Given the description of an element on the screen output the (x, y) to click on. 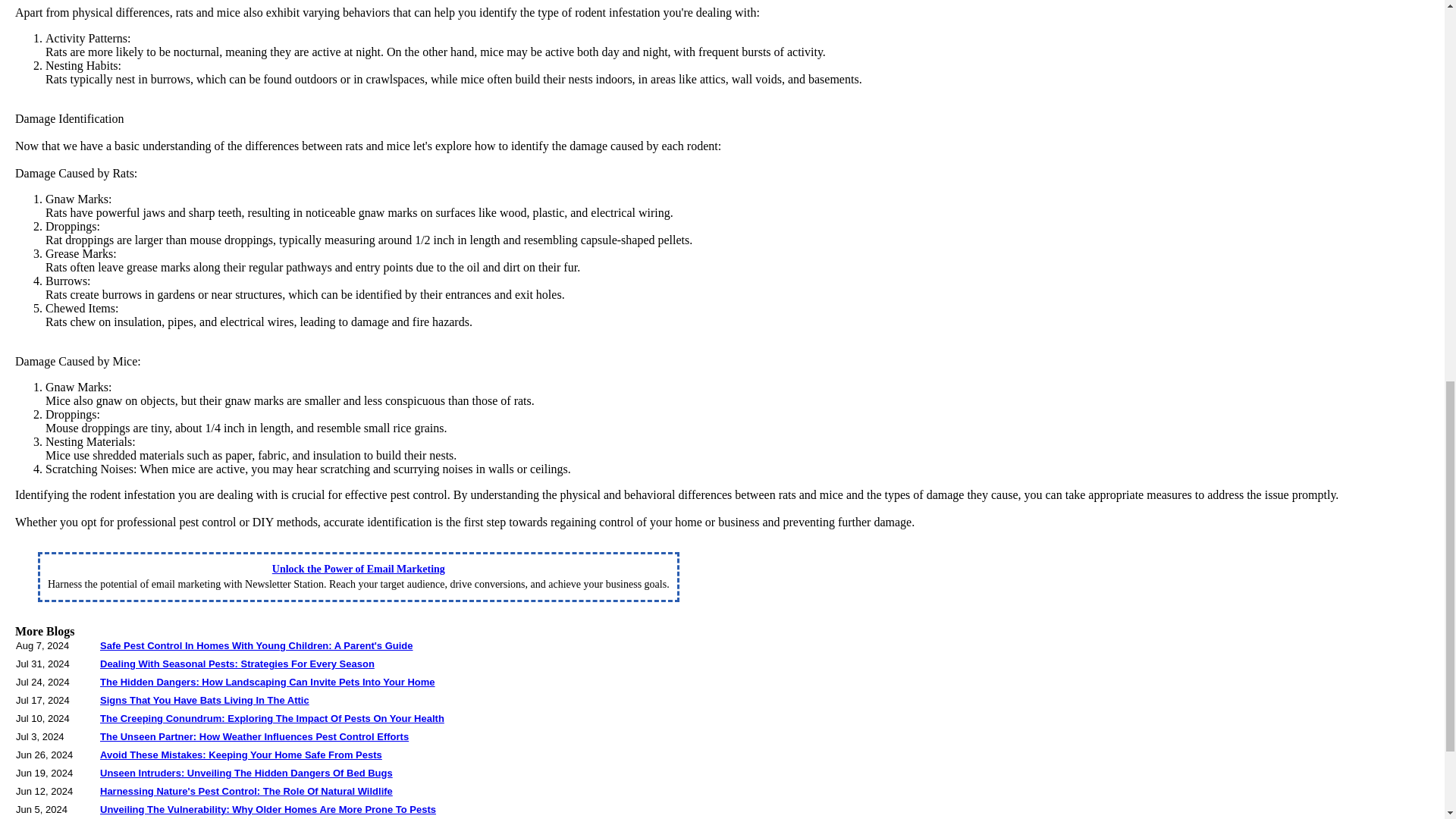
Dealing With Seasonal Pests: Strategies For Every Season (237, 663)
Avoid These Mistakes: Keeping Your Home Safe From Pests (240, 754)
Unlock the Power of Email Marketing (358, 568)
Unseen Intruders: Unveiling The Hidden Dangers Of Bed Bugs (246, 772)
Signs That You Have Bats Living In The Attic (204, 699)
